Given the description of an element on the screen output the (x, y) to click on. 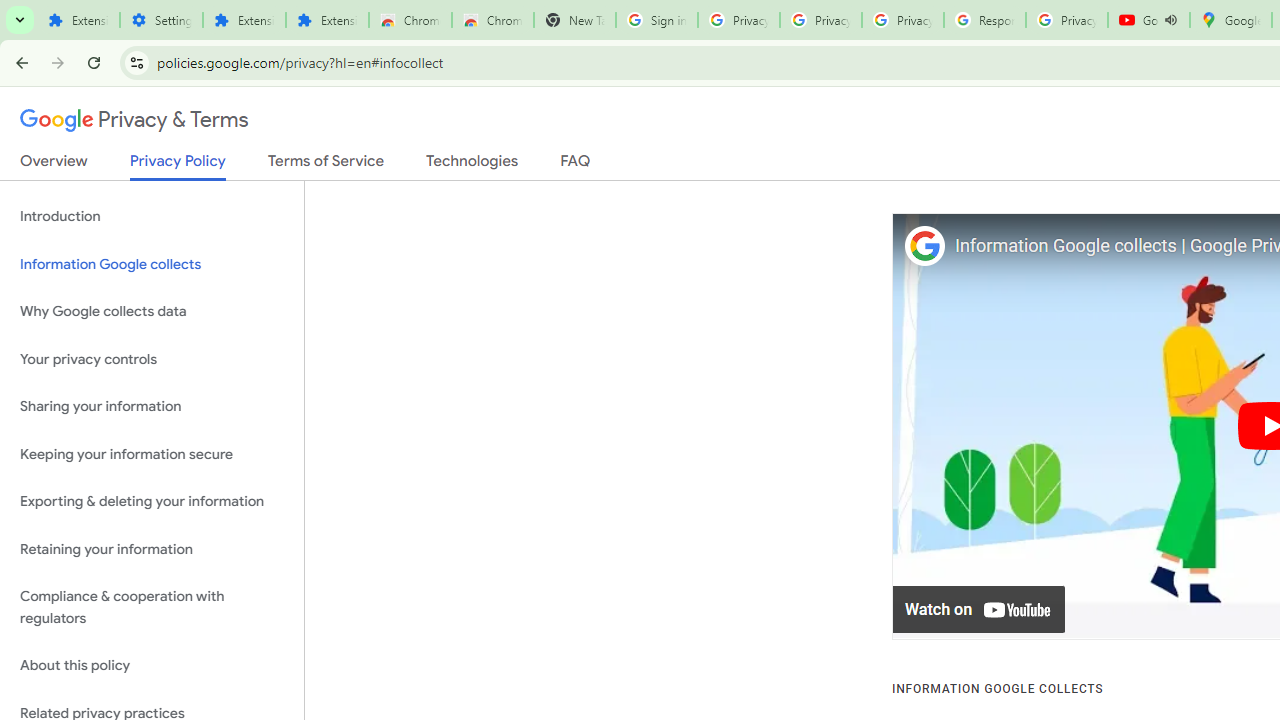
Chrome Web Store - Themes (492, 20)
Sign in - Google Accounts (656, 20)
Extensions (244, 20)
Watch on YouTube (979, 610)
Chrome Web Store (409, 20)
Photo image of Google (924, 246)
Extensions (326, 20)
